Given the description of an element on the screen output the (x, y) to click on. 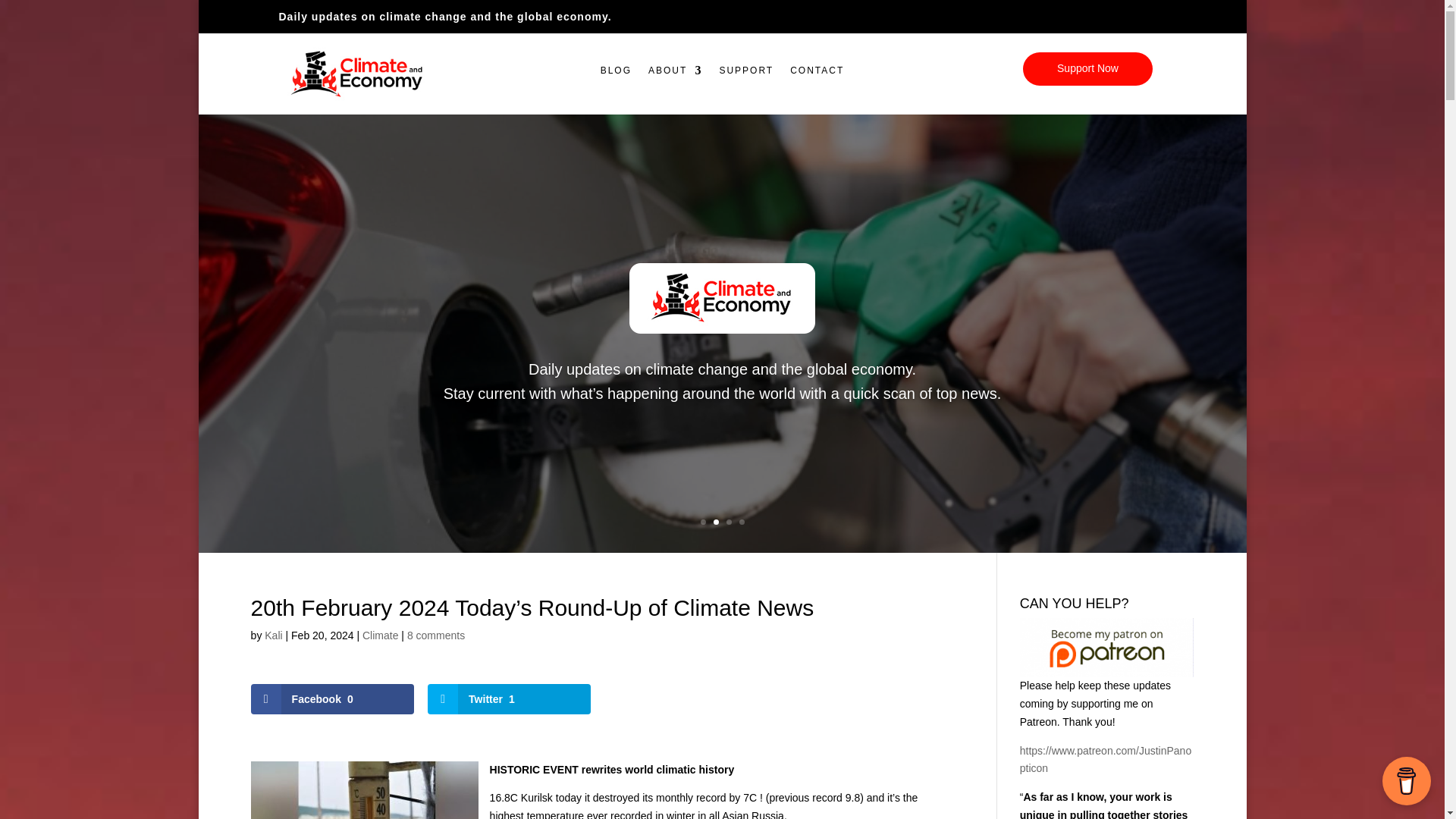
SUPPORT (746, 73)
ABOUT (674, 73)
Support Now (1088, 68)
BLOG (615, 73)
4 (741, 521)
1 (703, 521)
3 (729, 521)
CONTACT (817, 73)
Posts by Kali (273, 635)
Kali (273, 635)
Climate (379, 635)
